Given the description of an element on the screen output the (x, y) to click on. 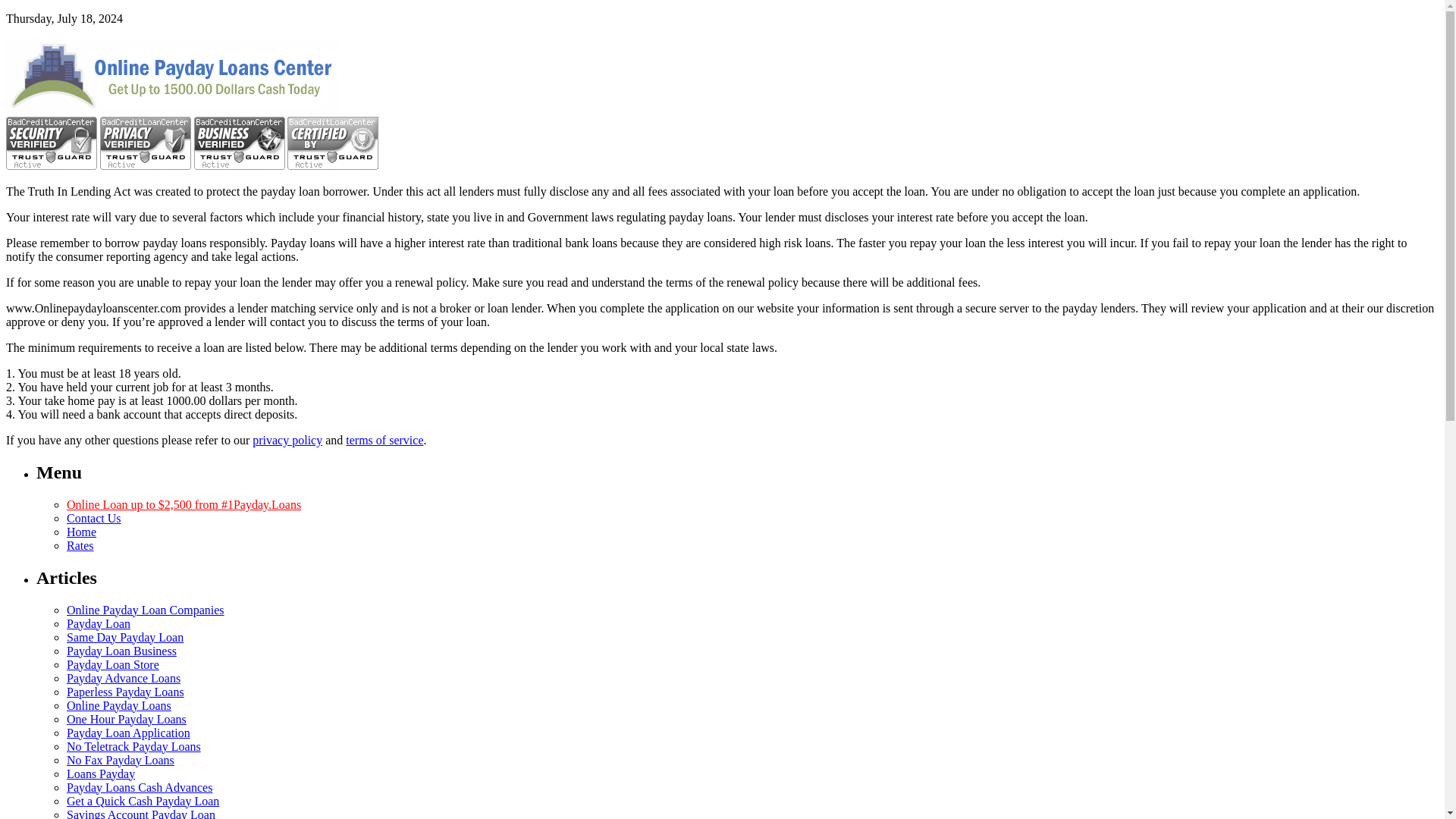
One Hour Payday Loans (126, 718)
Payday Loan Application (128, 732)
Online Payday Loans (118, 705)
Payday Loan (98, 623)
Paperless Payday Loans (125, 691)
Same Day Payday Loan (124, 636)
Payday Loan Store (112, 664)
Payday Loan Business (121, 650)
Online Payday Loan Companies (145, 609)
terms of service (384, 440)
No Fax Payday Loans (120, 759)
Home (81, 531)
Payday Advance Loans (123, 677)
Loans Payday (100, 773)
No Teletrack Payday Loans (133, 746)
